Given the description of an element on the screen output the (x, y) to click on. 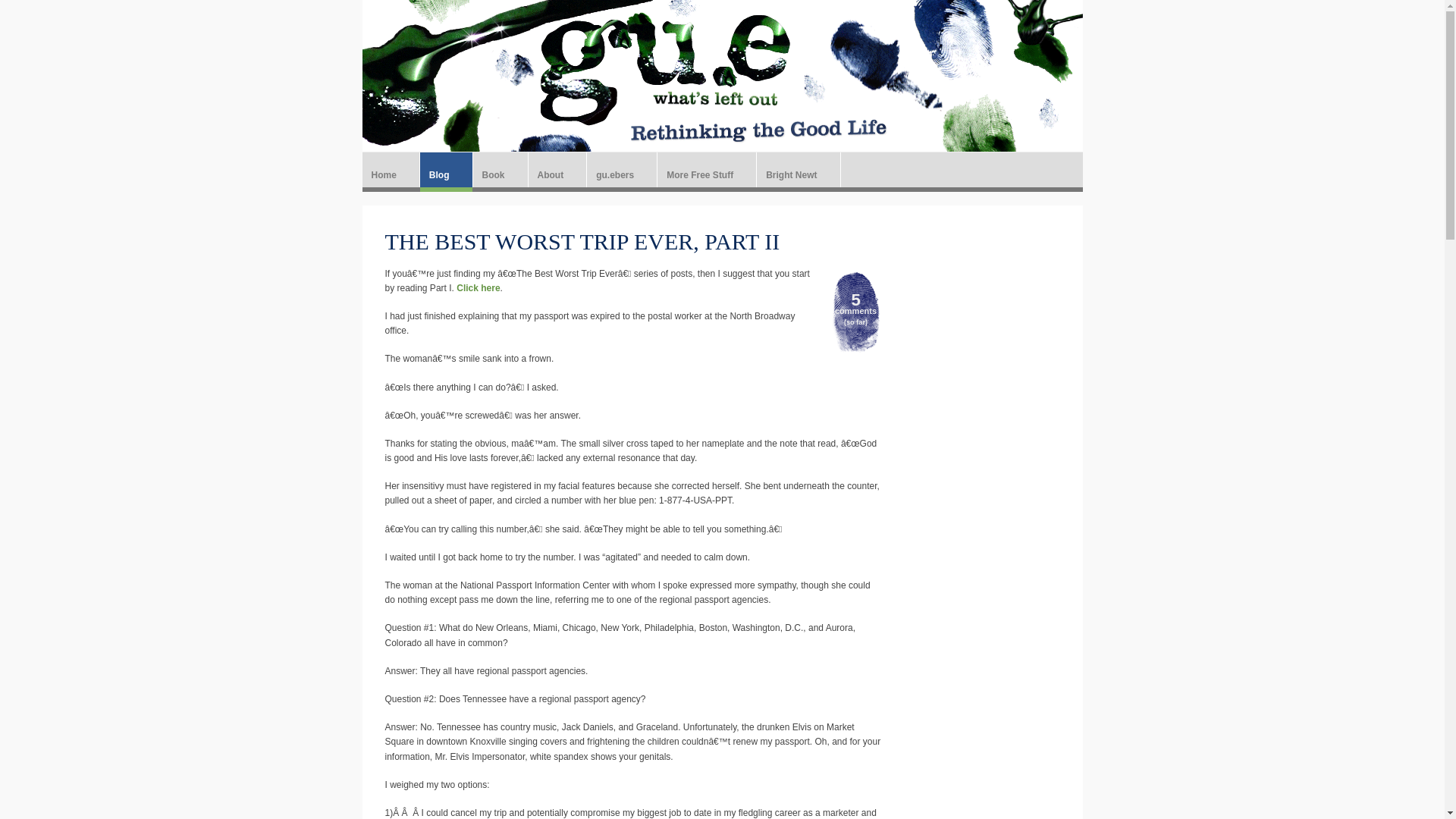
More Free Stuff (706, 171)
Home (390, 171)
gu.ebers (621, 171)
gu.e: what's left out (722, 72)
About (557, 171)
The Best Worst Trip Ever, Part I (478, 287)
Click here (478, 287)
gu.e: what's left out (722, 72)
Blog (445, 171)
Book (500, 171)
